Given the description of an element on the screen output the (x, y) to click on. 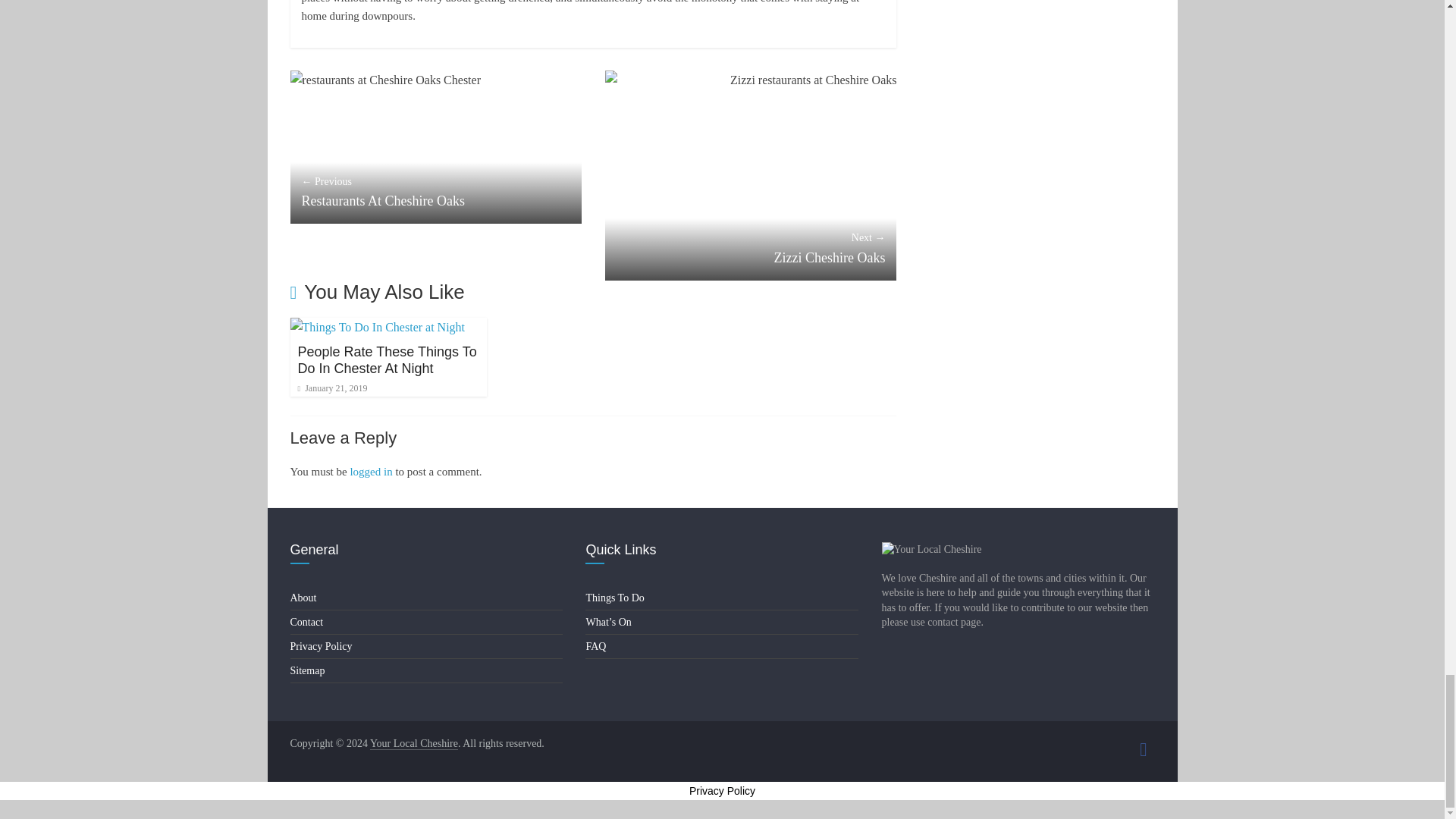
People Rate These Things To Do In Chester At Night (386, 359)
People Rate These Things To Do In Chester At Night (376, 327)
People Rate These Things To Do In Chester At Night (386, 359)
Contact (306, 622)
3:53 pm (331, 388)
January 21, 2019 (331, 388)
Privacy Policy (320, 645)
About (302, 597)
Things To Do (614, 597)
Sitemap (306, 670)
